Given the description of an element on the screen output the (x, y) to click on. 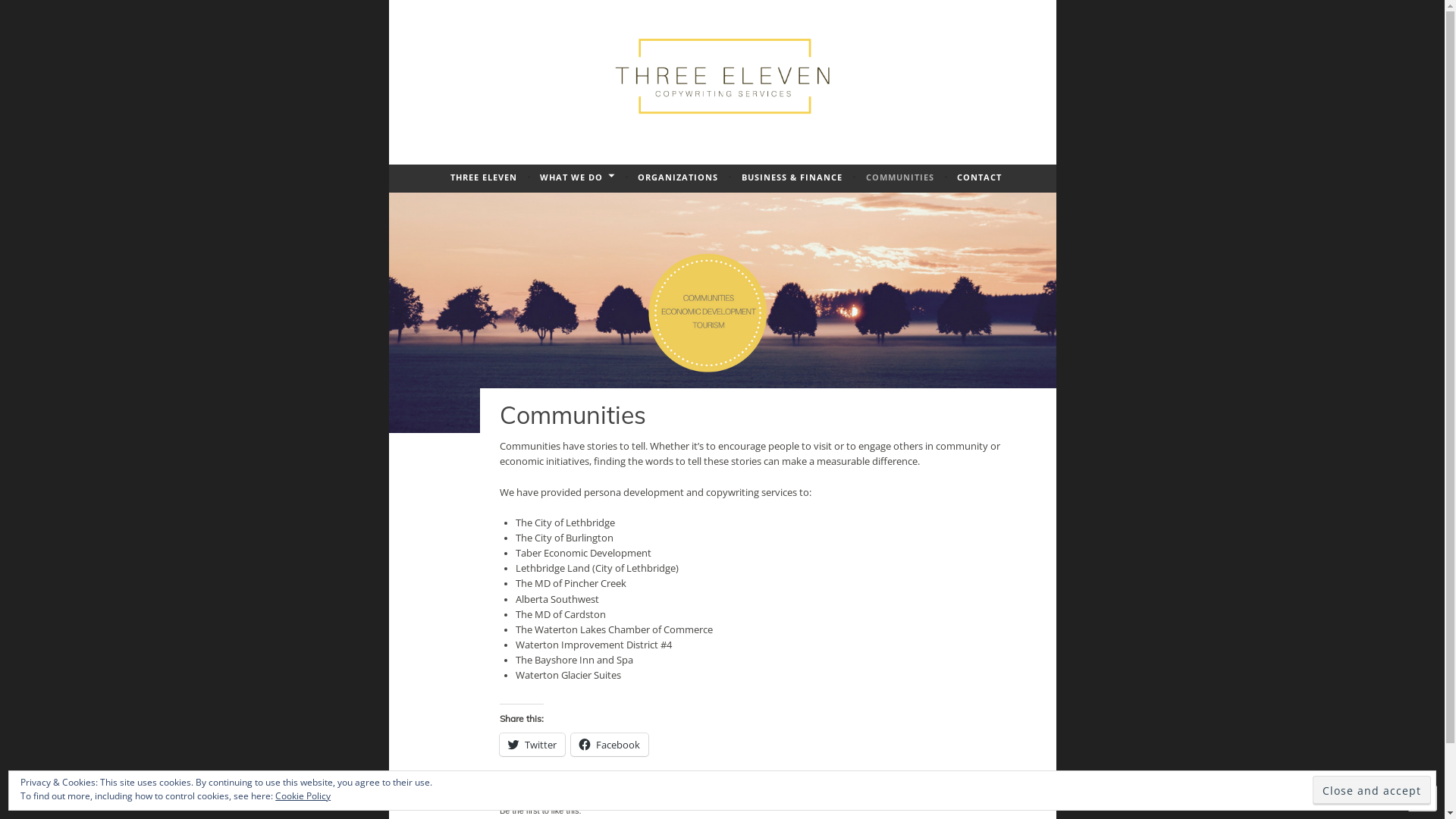
Facebook Element type: text (609, 744)
THREE ELEVEN Element type: text (483, 177)
ORGANIZATIONS Element type: text (677, 177)
Three Eleven Copywriting Services Element type: text (714, 167)
Close and accept Element type: text (1371, 790)
Twitter Element type: text (531, 744)
COMMUNITIES Element type: text (900, 177)
WHAT WE DO Element type: text (576, 177)
BUSINESS & FINANCE Element type: text (791, 177)
Cookie Policy Element type: text (302, 795)
Like or Reblog Element type: hover (755, 795)
CONTACT Element type: text (979, 177)
